Given the description of an element on the screen output the (x, y) to click on. 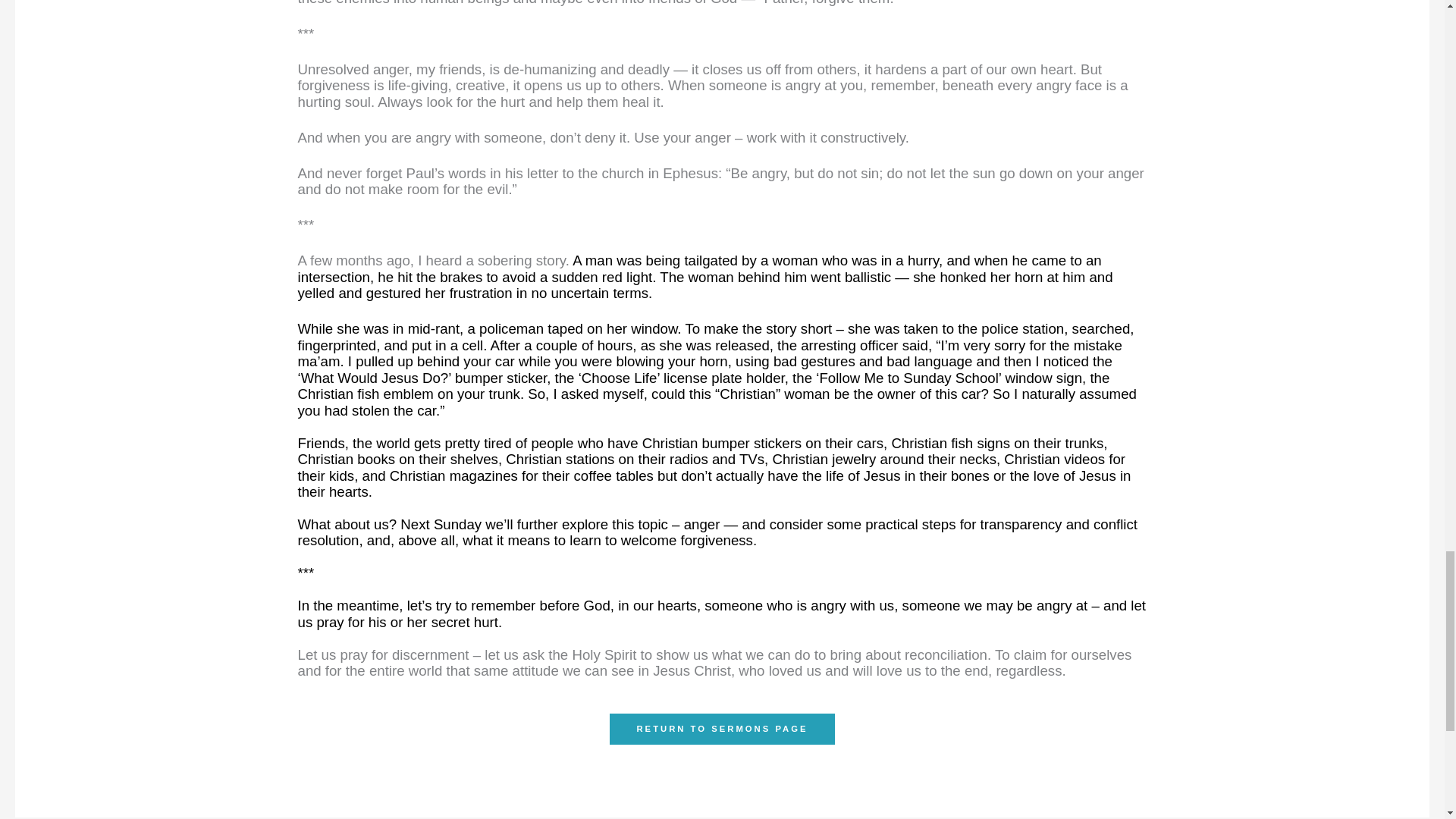
RETURN TO SERMONS PAGE (722, 728)
